Given the description of an element on the screen output the (x, y) to click on. 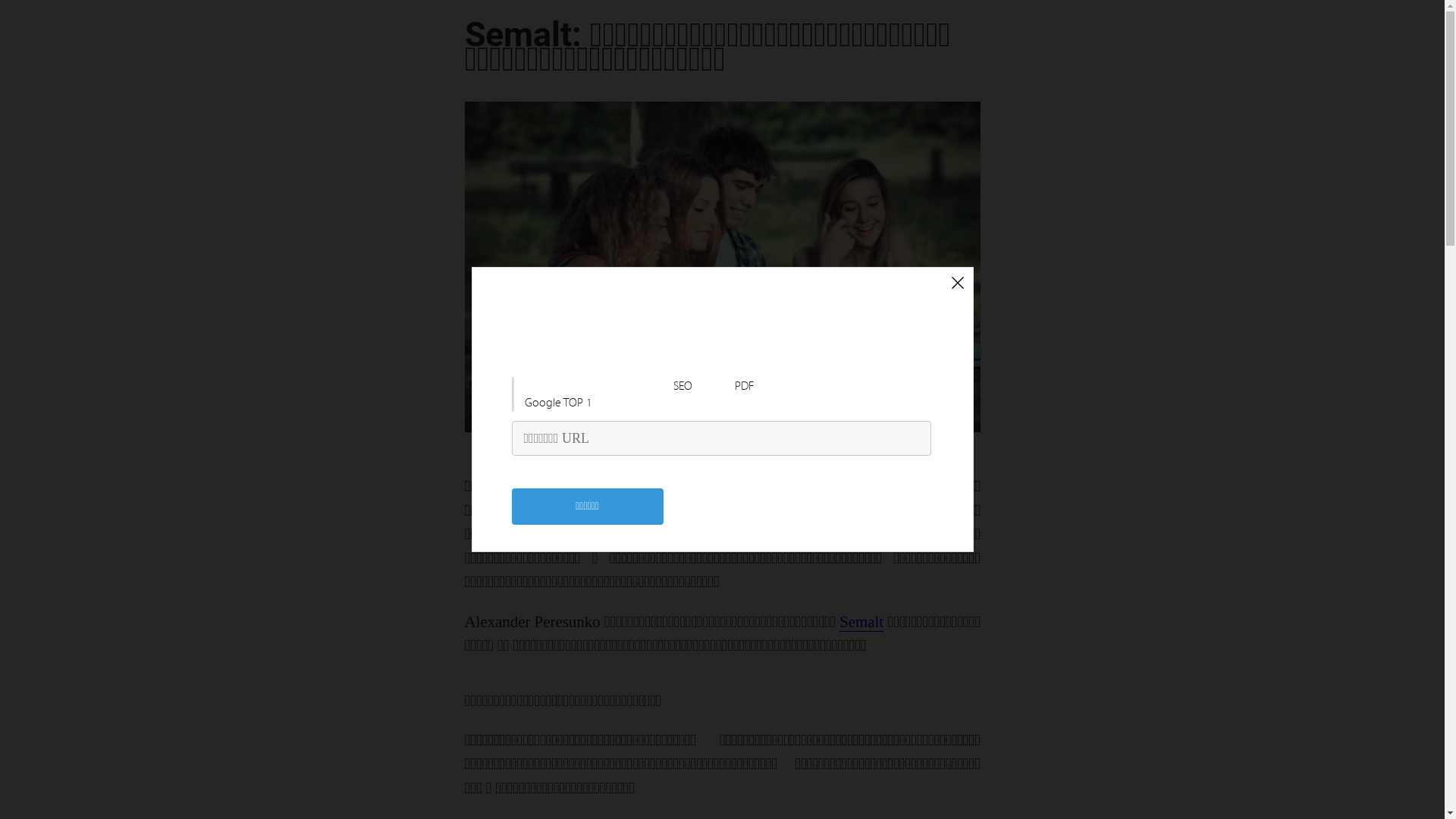
Semalt Element type: text (861, 621)
